Given the description of an element on the screen output the (x, y) to click on. 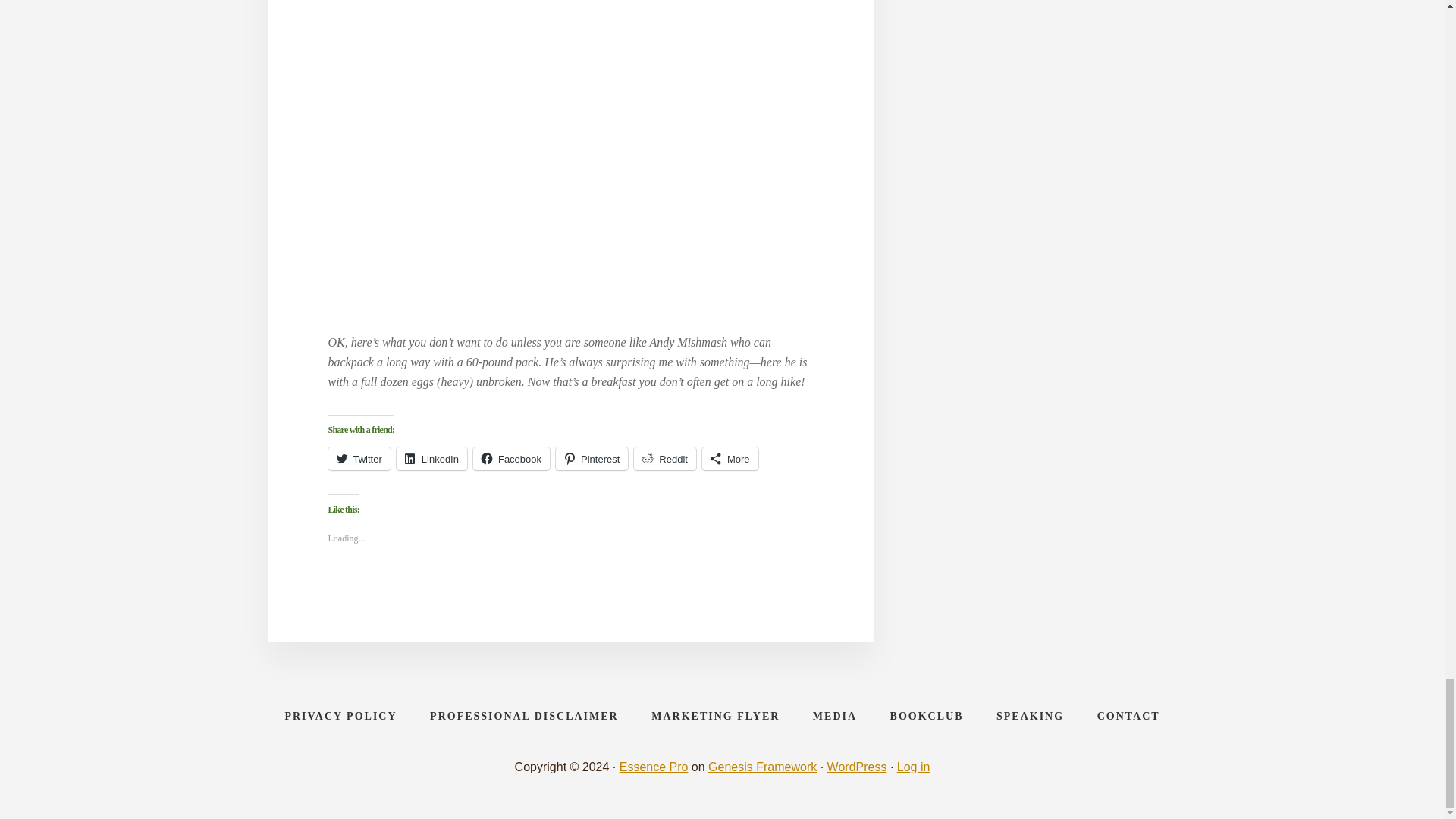
Reddit (664, 458)
LinkedIn (431, 458)
Click to share on Facebook (511, 458)
Click to share on LinkedIn (431, 458)
Pinterest (591, 458)
Click to share on Twitter (358, 458)
Facebook (511, 458)
Click to share on Pinterest (591, 458)
More (729, 458)
Twitter (358, 458)
Click to share on Reddit (664, 458)
